Given the description of an element on the screen output the (x, y) to click on. 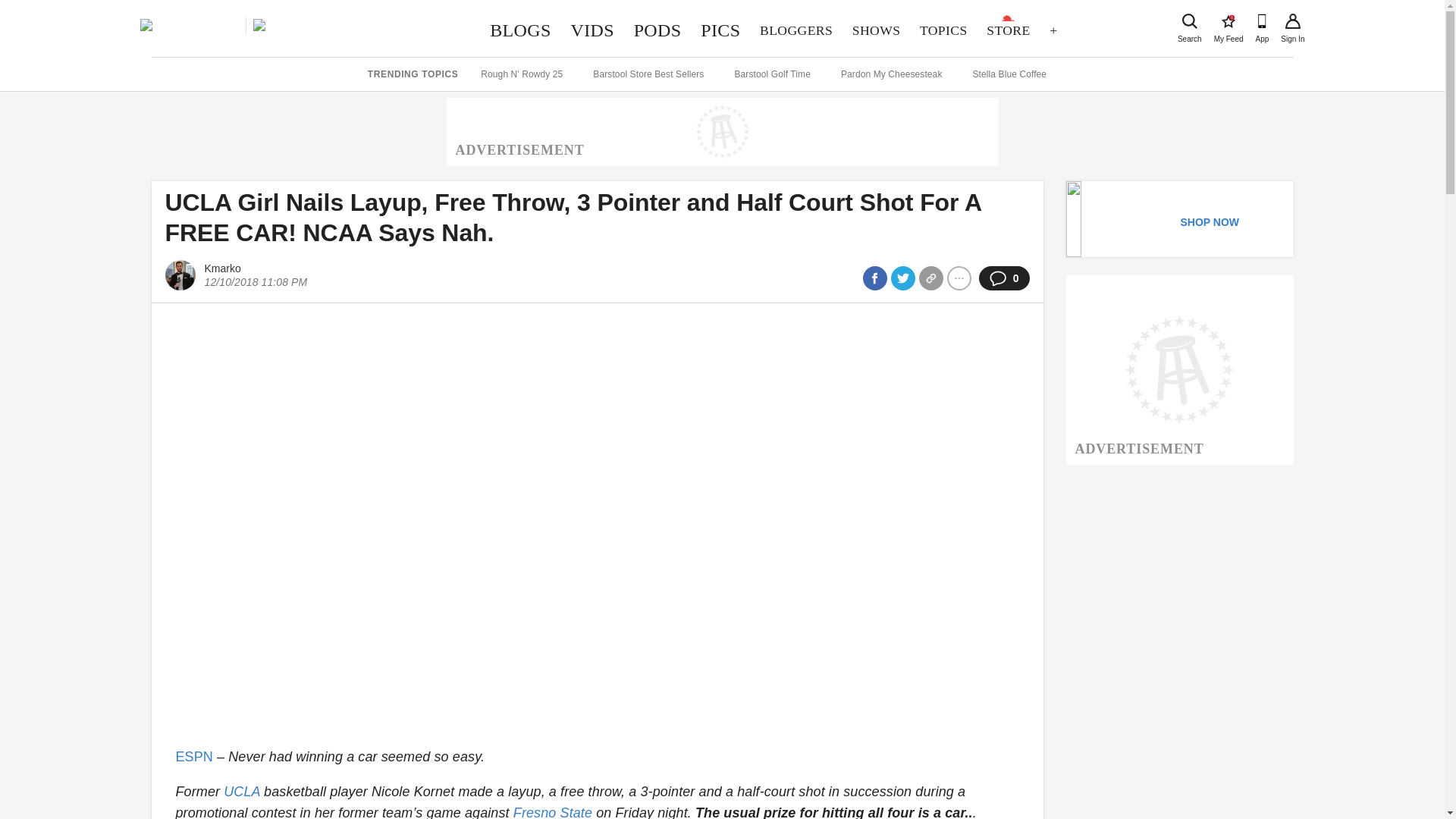
Sign Up (1292, 20)
BLOGS (520, 30)
BLOGGERS (796, 30)
SHOWS (876, 30)
Search (1189, 20)
PODS (657, 30)
VIDS (592, 30)
TOPICS (943, 30)
PICS (1228, 20)
